Given the description of an element on the screen output the (x, y) to click on. 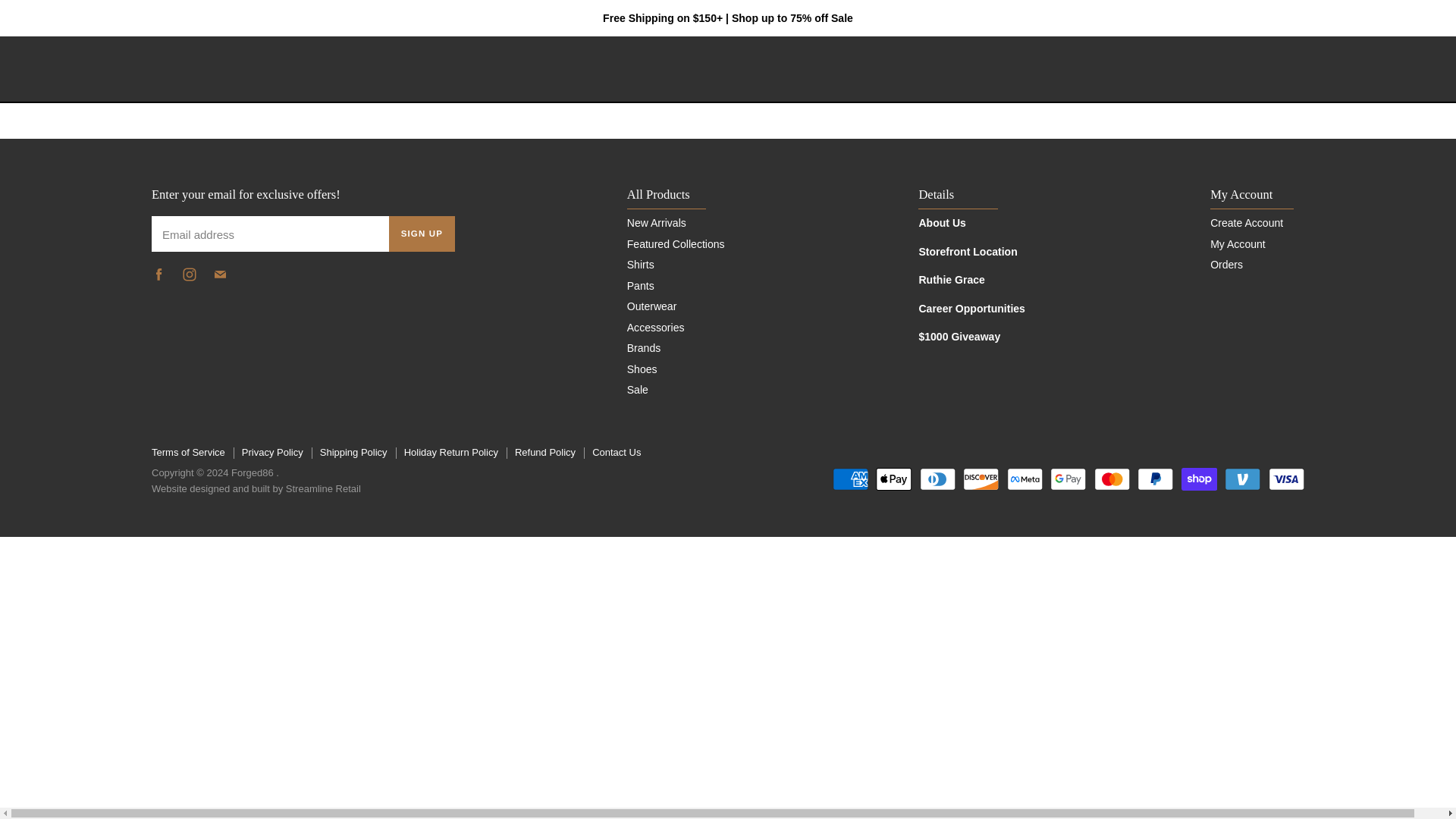
E-mail (222, 277)
Instagram (192, 277)
Facebook (162, 277)
